Given the description of an element on the screen output the (x, y) to click on. 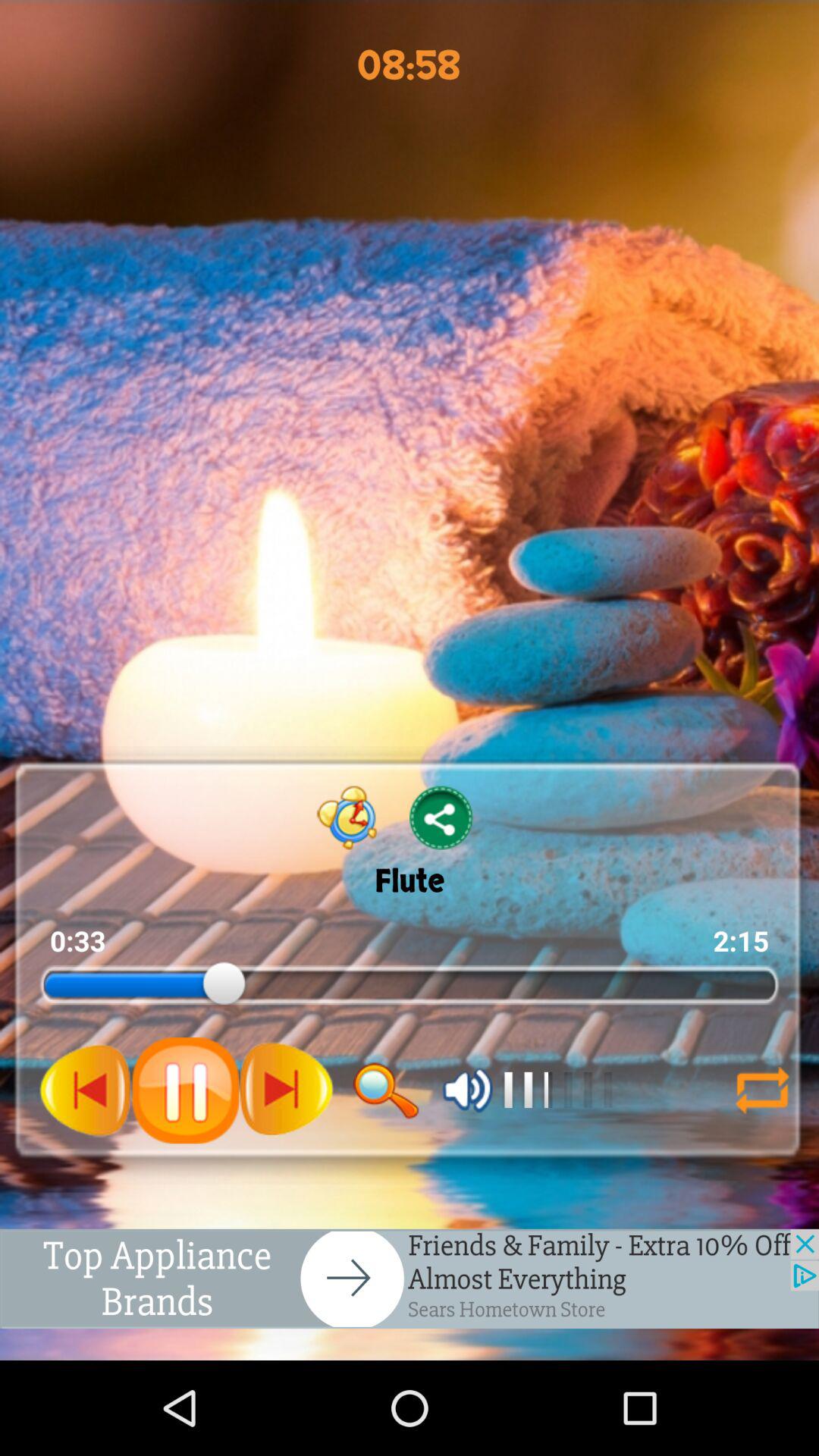
go to previous (85, 1090)
